Given the description of an element on the screen output the (x, y) to click on. 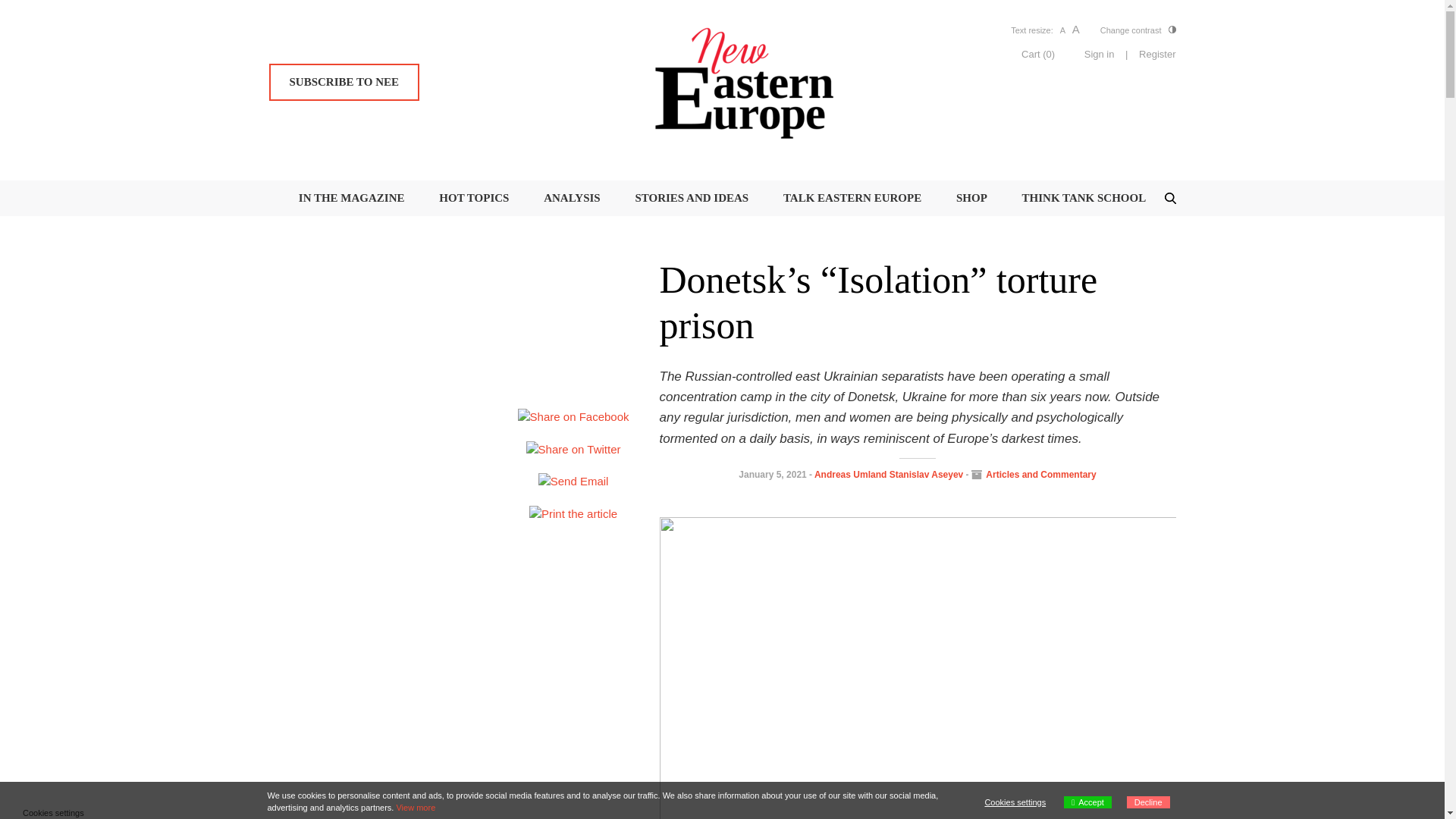
Cart (1038, 53)
THINK TANK SCHOOL (1084, 197)
Register (1156, 54)
Share on Facebook (573, 416)
ANALYSIS (571, 197)
HOT TOPICS (473, 197)
Send Email (573, 481)
Articles and Commentary (1040, 474)
Sign in (1099, 54)
SHOP (971, 197)
